Given the description of an element on the screen output the (x, y) to click on. 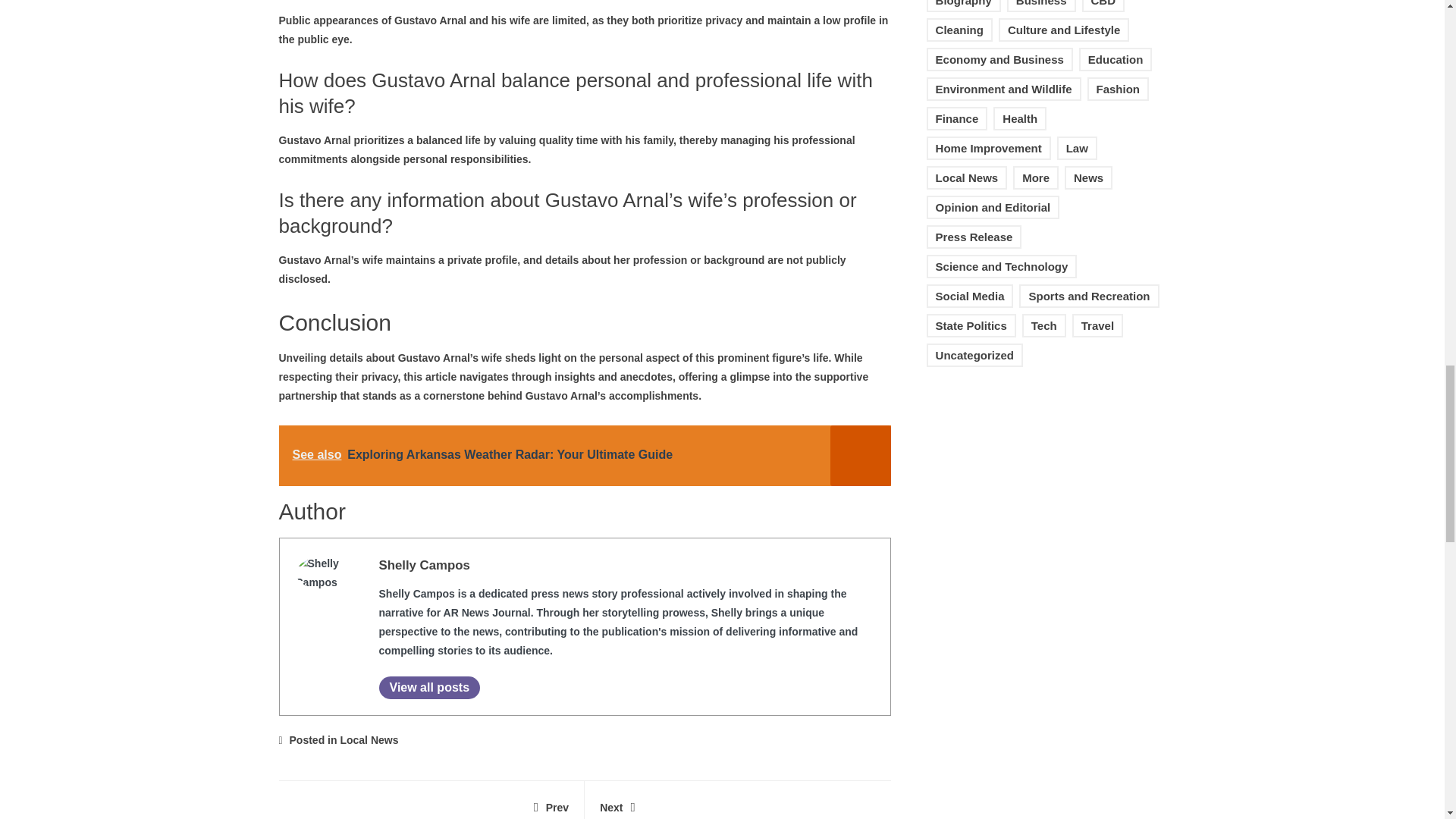
View all posts (429, 687)
Shelly Campos (424, 564)
Shelly Campos (424, 564)
View all posts (429, 687)
Local News (368, 739)
